Given the description of an element on the screen output the (x, y) to click on. 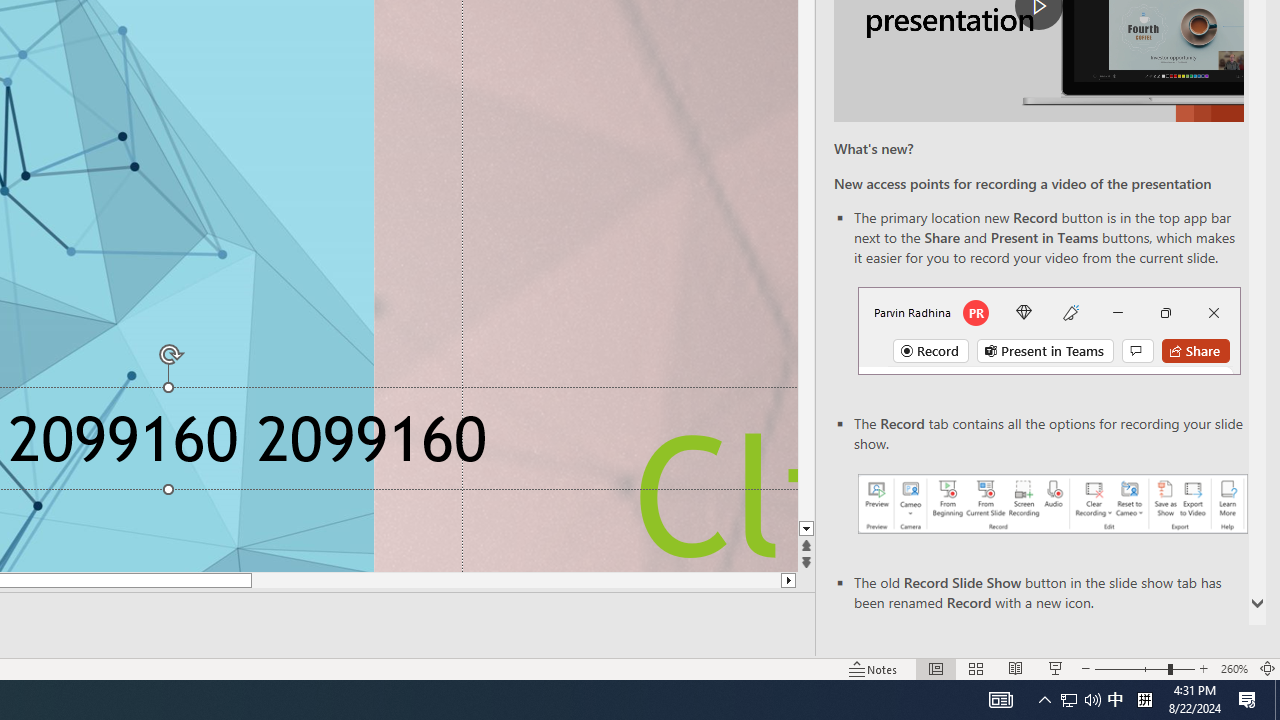
Line down (806, 529)
Page down (806, 357)
Zoom 260% (1234, 668)
Record button in top bar (1049, 331)
Record your presentations screenshot one (1052, 503)
